Given the description of an element on the screen output the (x, y) to click on. 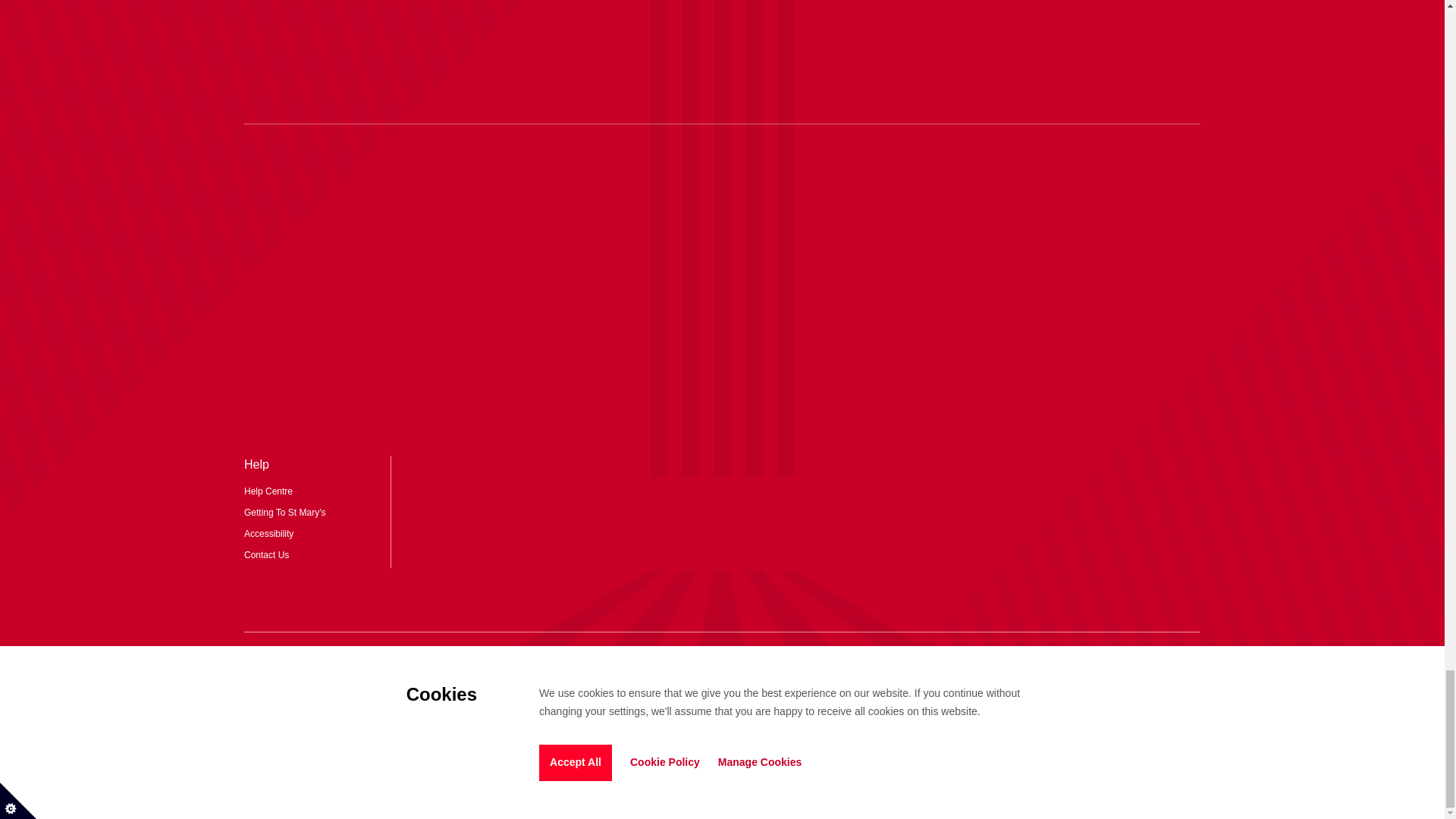
tiktok (676, 665)
facebook (813, 665)
instagram (631, 665)
youtube (767, 665)
twitter (721, 665)
